Given the description of an element on the screen output the (x, y) to click on. 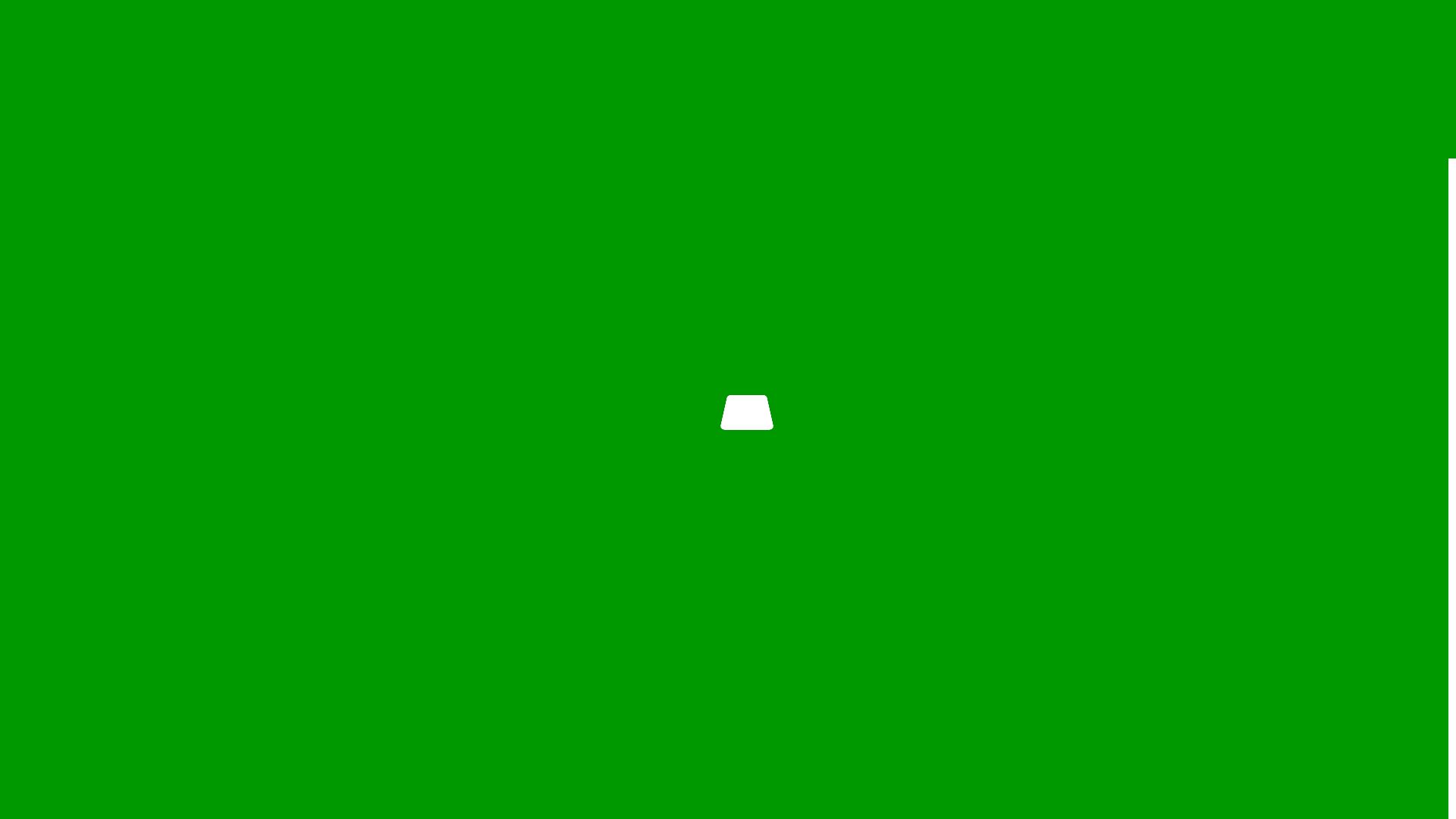
Mentorlar Element type: text (739, 72)
Bloq Element type: text (889, 72)
Konsultasiya Element type: text (823, 72)
Daxil ol Element type: text (1383, 58)
